Given the description of an element on the screen output the (x, y) to click on. 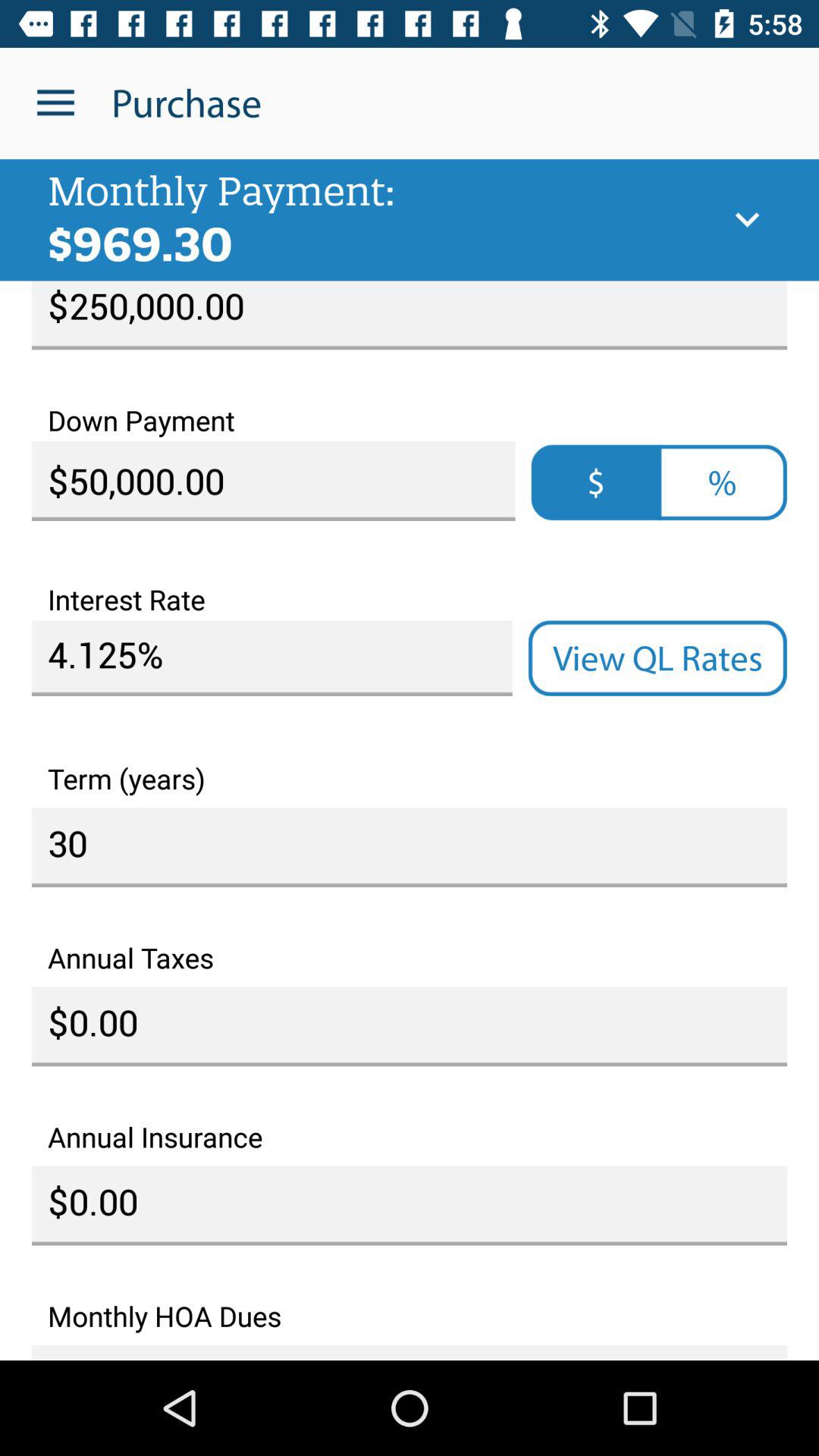
choose 4.125% on the left (271, 658)
